Given the description of an element on the screen output the (x, y) to click on. 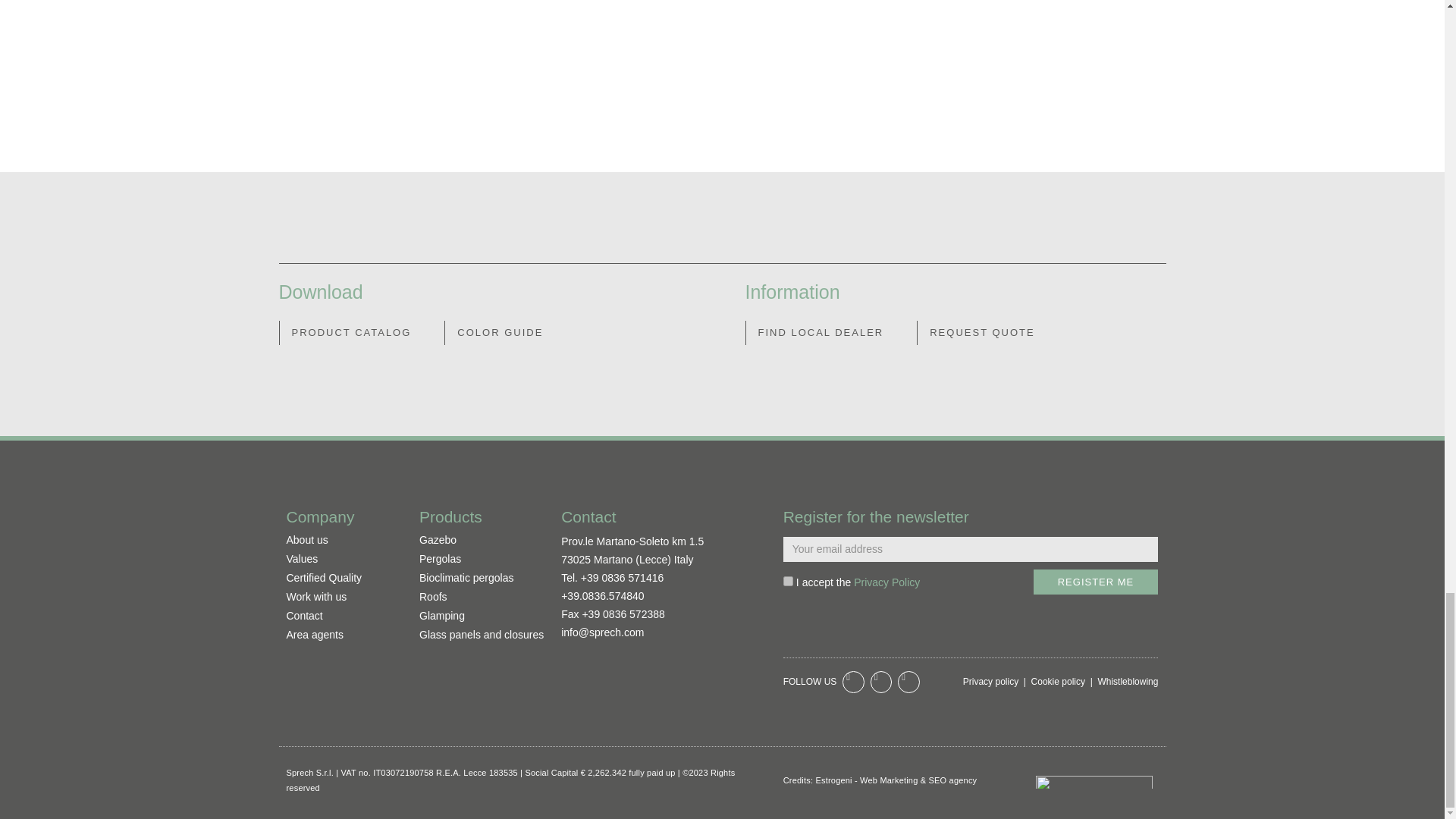
on (788, 581)
